Given the description of an element on the screen output the (x, y) to click on. 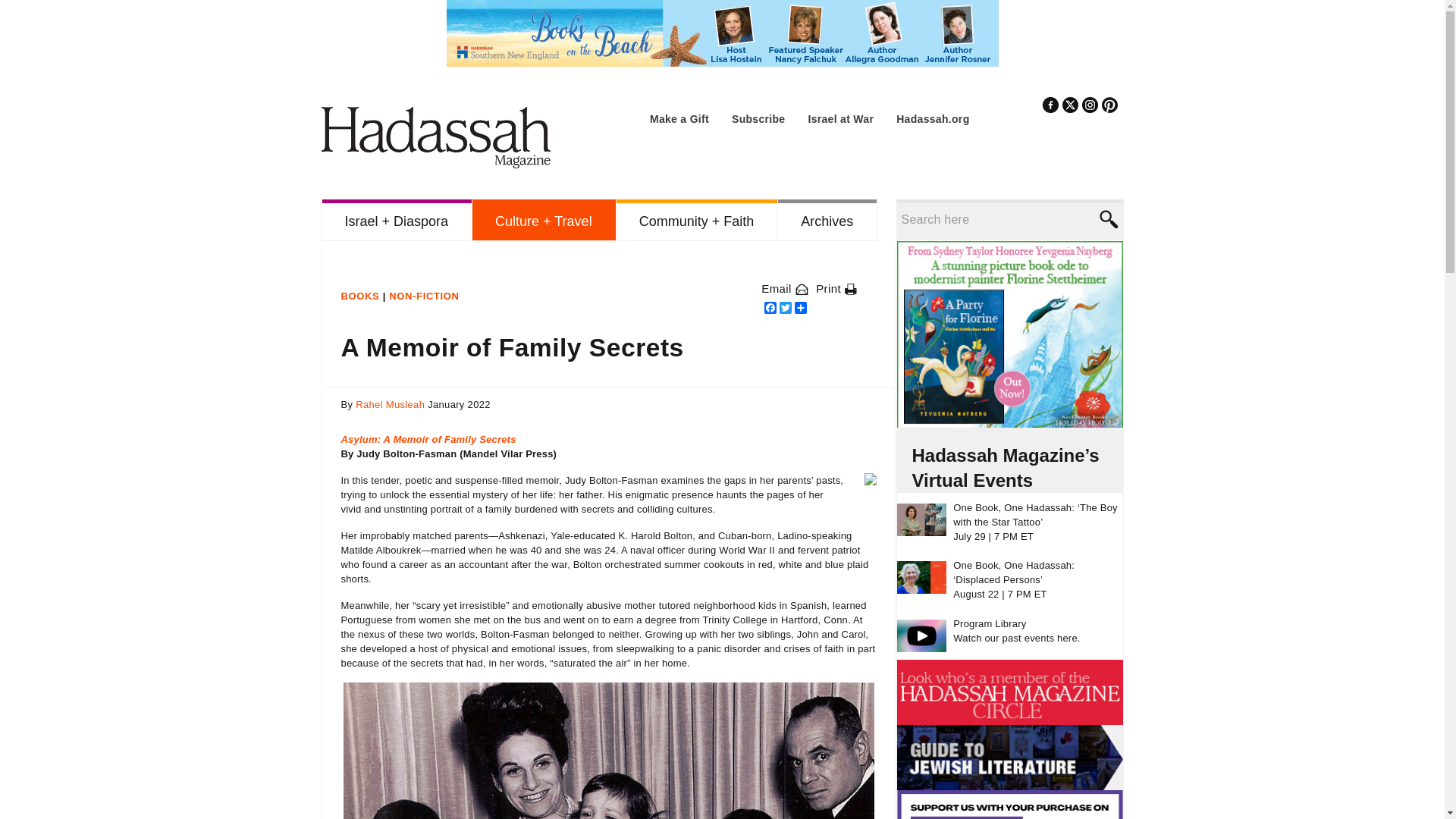
Subscribe (758, 119)
Archives (826, 219)
Hadassah.org (932, 119)
Make a Gift (679, 119)
Israel at War (840, 119)
Search (1107, 219)
Search (1107, 219)
